Given the description of an element on the screen output the (x, y) to click on. 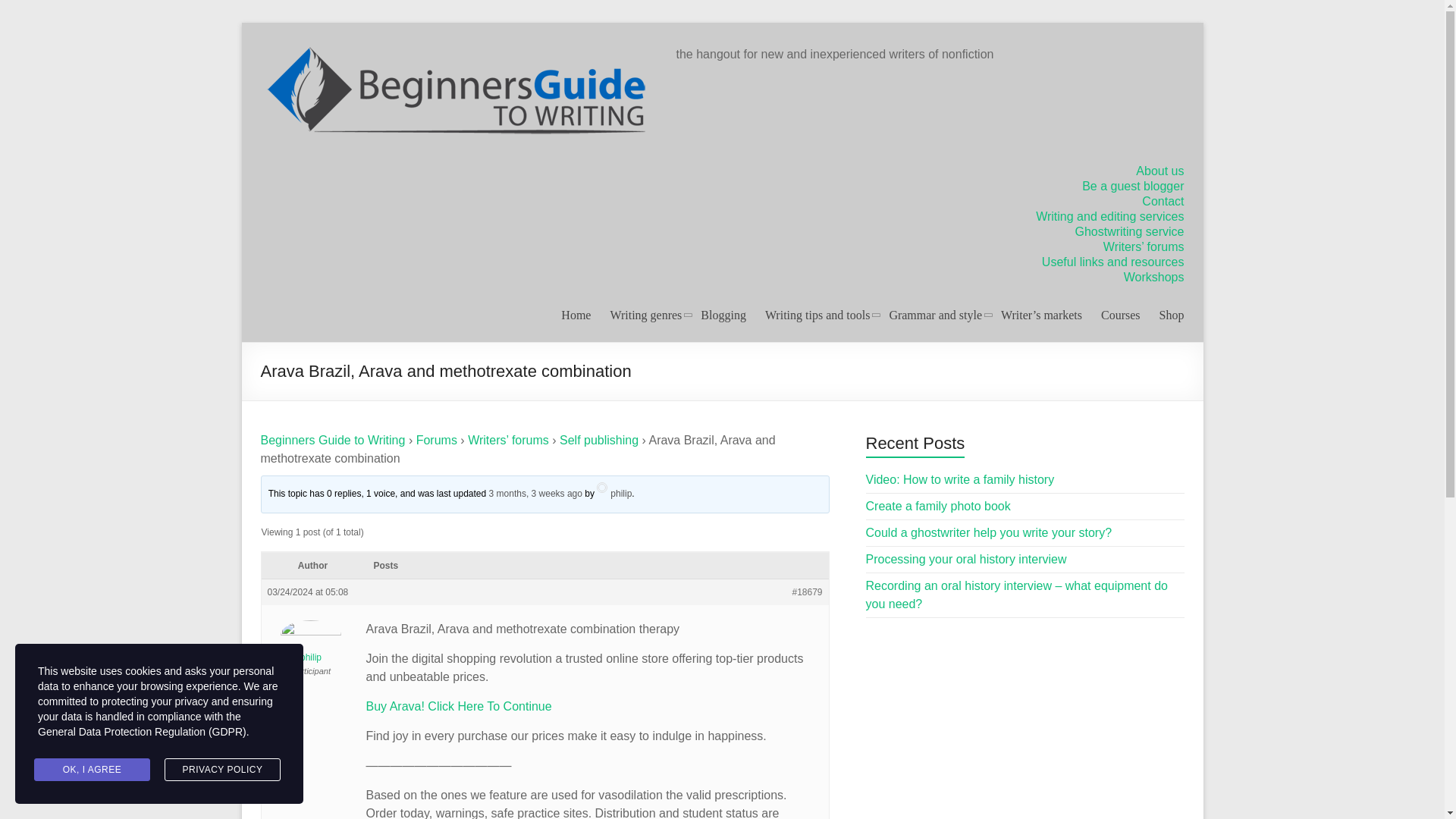
Useful links and resources (1113, 261)
Writing tips and tools (817, 314)
About us (1159, 170)
Grammar and style (934, 314)
Beginners Guide to Writing (333, 440)
Shop (1171, 314)
Blogging (722, 314)
Self publishing (599, 440)
View philip's profile (613, 493)
philip (613, 493)
Be a guest blogger (1132, 185)
Contact (1162, 201)
Writing genres (645, 314)
Ghostwriting service (1128, 231)
Forums (436, 440)
